Given the description of an element on the screen output the (x, y) to click on. 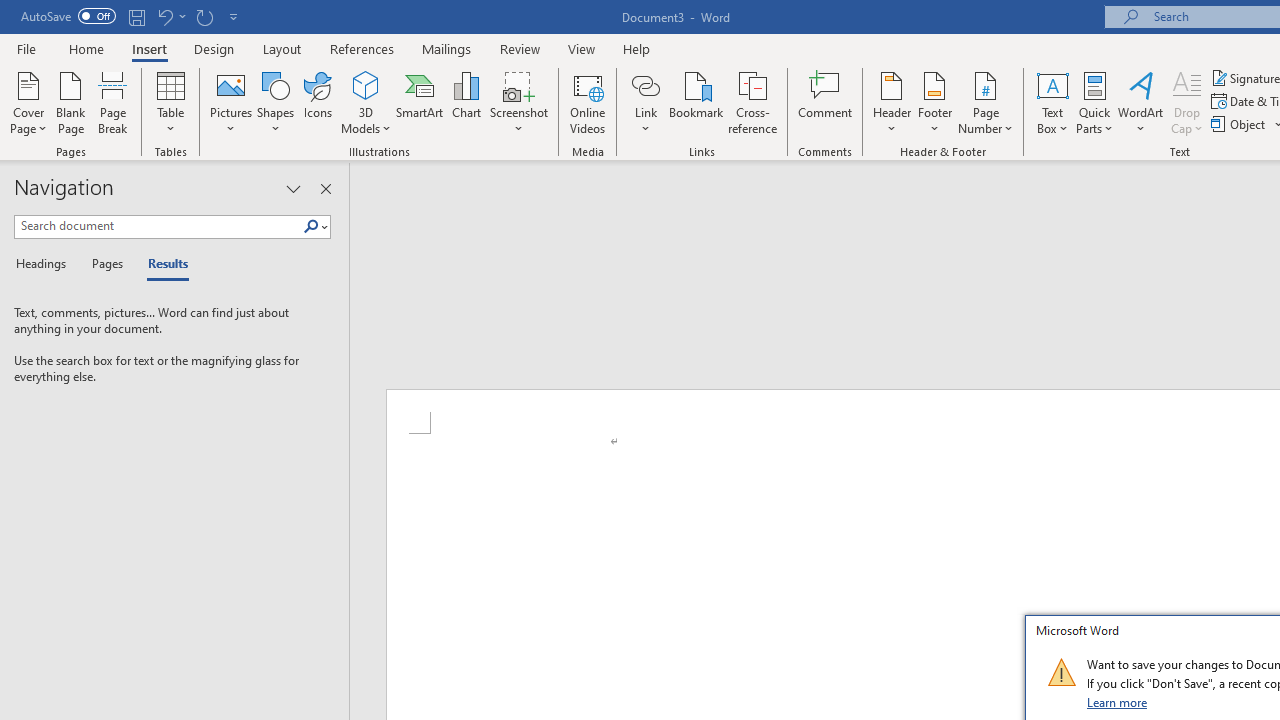
Object... (1240, 124)
Cover Page (28, 102)
Undo New Page (164, 15)
Drop Cap (1187, 102)
Online Videos... (588, 102)
Chart... (466, 102)
